Given the description of an element on the screen output the (x, y) to click on. 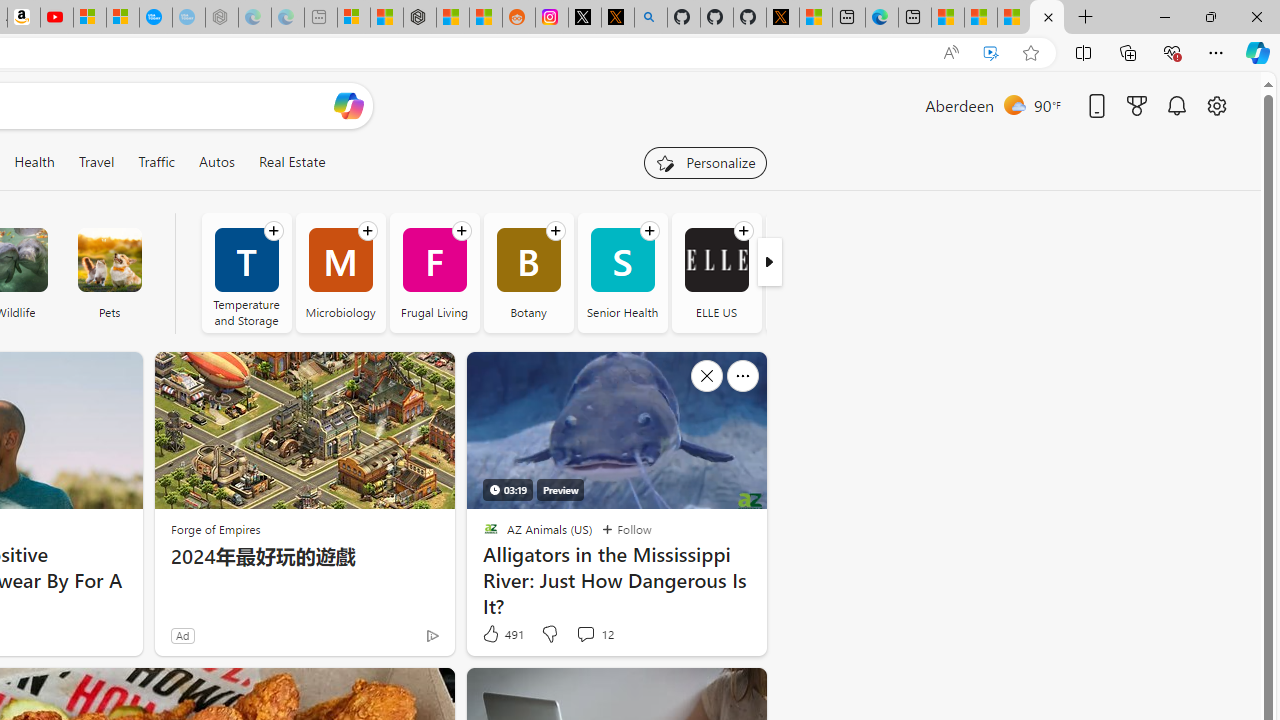
Forge of Empires (215, 529)
Frugal Living (434, 272)
